Given the description of an element on the screen output the (x, y) to click on. 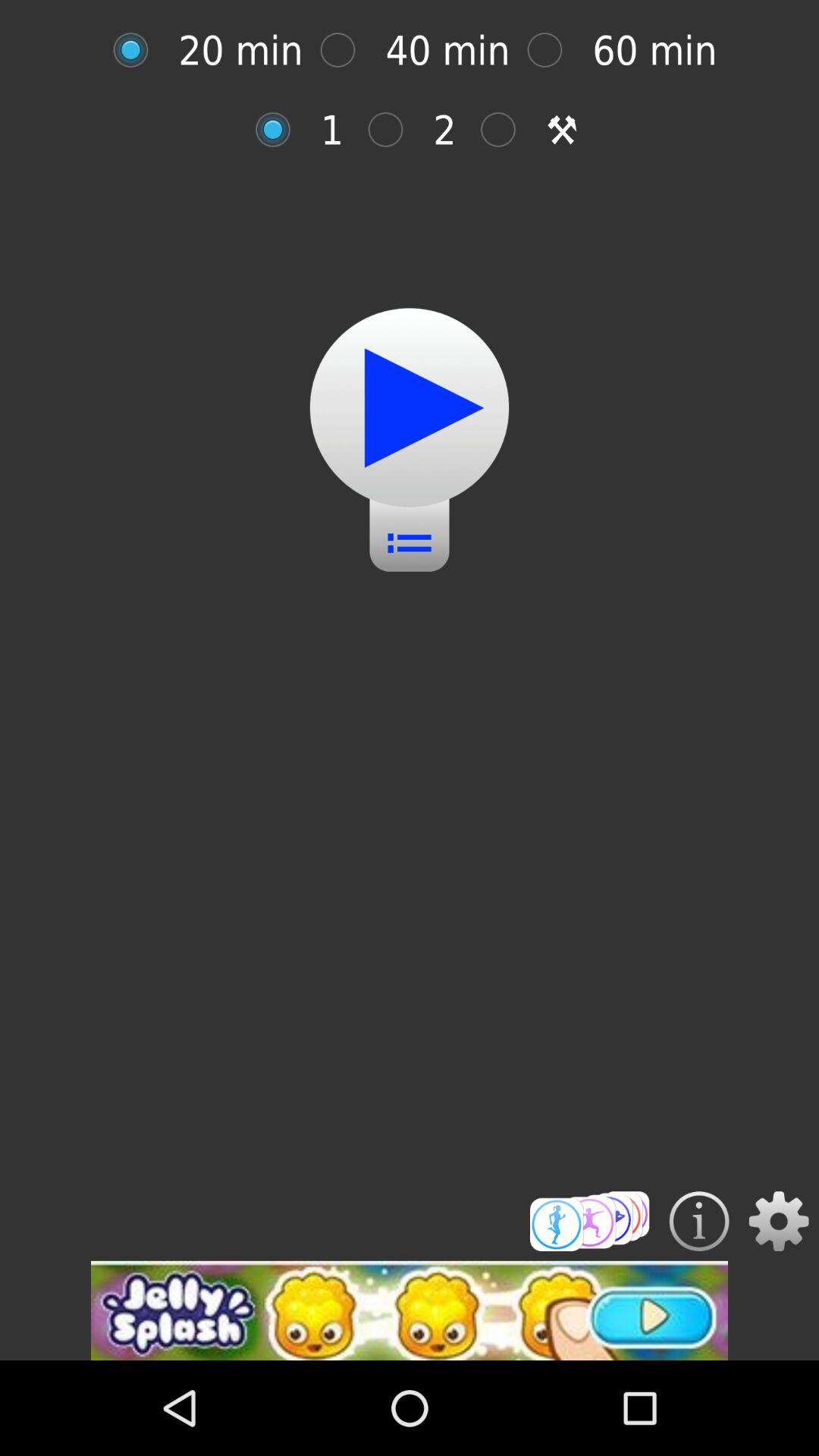
next button (409, 407)
